Given the description of an element on the screen output the (x, y) to click on. 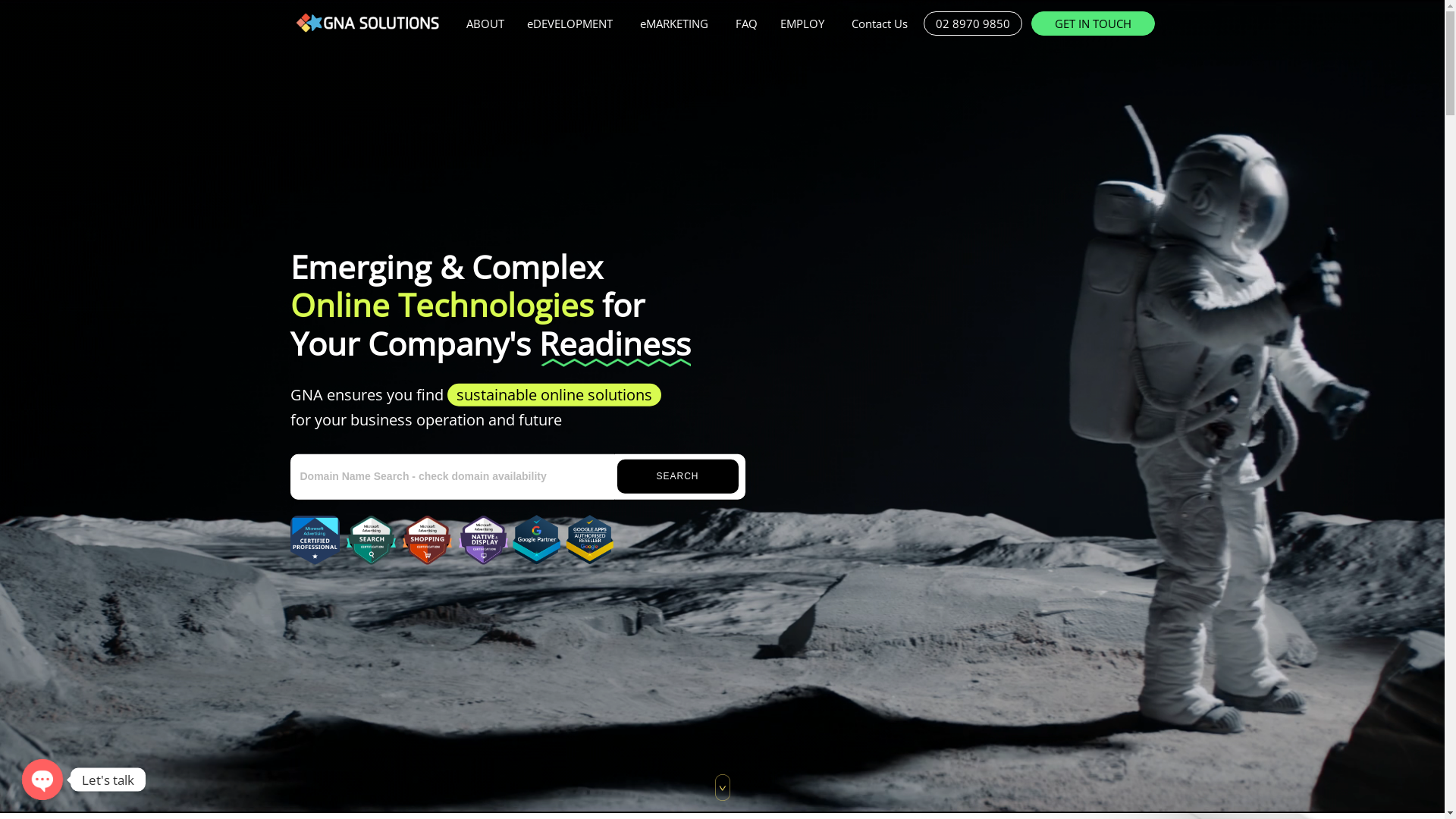
Contact Us Element type: text (881, 23)
GET IN TOUCH Element type: text (1092, 23)
EMPLOY Element type: text (804, 23)
02 8970 9850 Element type: text (972, 23)
eMARKETING Element type: text (675, 23)
ABOUT Element type: text (485, 23)
FAQ Element type: text (745, 23)
Home Element type: text (365, 22)
SEARCH Element type: text (677, 476)
eDEVELOPMENT Element type: text (571, 23)
